Given the description of an element on the screen output the (x, y) to click on. 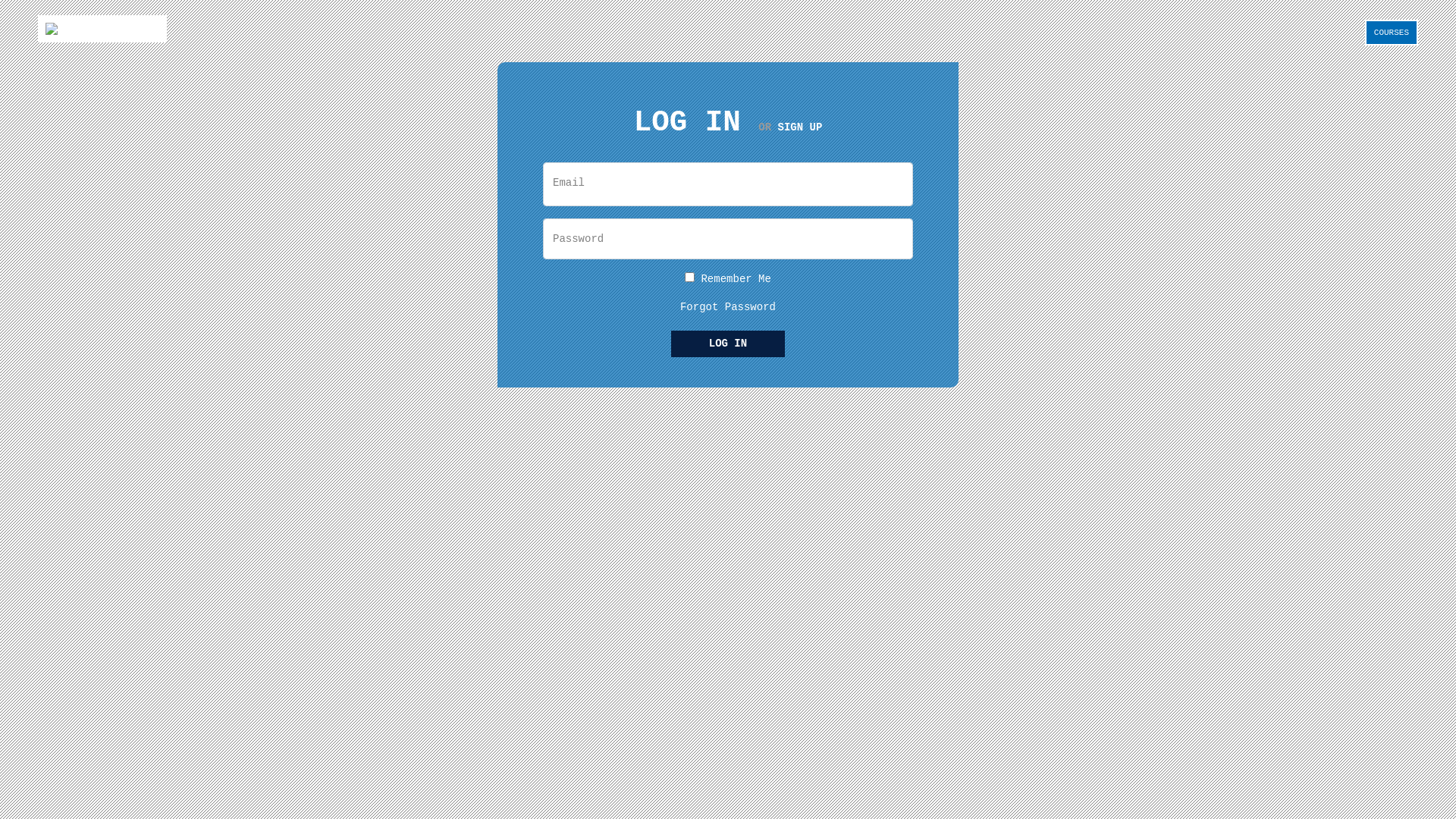
Forgot Password Element type: text (727, 307)
SIGN UP Element type: text (799, 127)
LOG IN Element type: text (727, 343)
COURSES Element type: text (1391, 32)
